Given the description of an element on the screen output the (x, y) to click on. 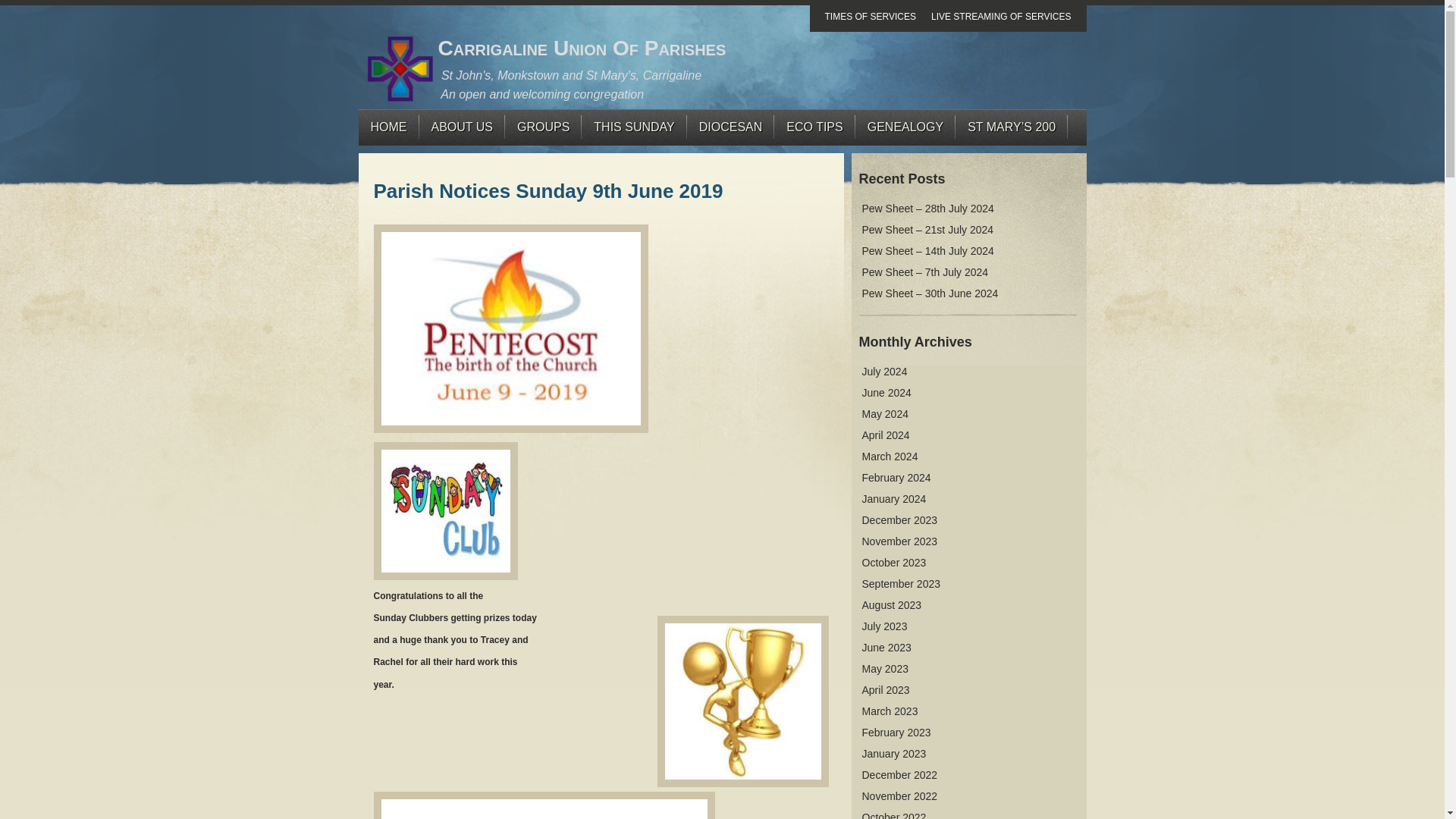
Parish Notices Sunday 9th June 2019 (547, 190)
DIOCESAN (730, 126)
GROUPS (542, 126)
Search (1067, 175)
ABOUT US (462, 126)
HOME (388, 126)
Home (388, 126)
LIVE STREAMING OF SERVICES (1001, 16)
GENEALOGY (905, 126)
ECO TIPS (814, 126)
THIS SUNDAY (632, 126)
Search (1067, 175)
TIMES OF SERVICES (870, 16)
